Given the description of an element on the screen output the (x, y) to click on. 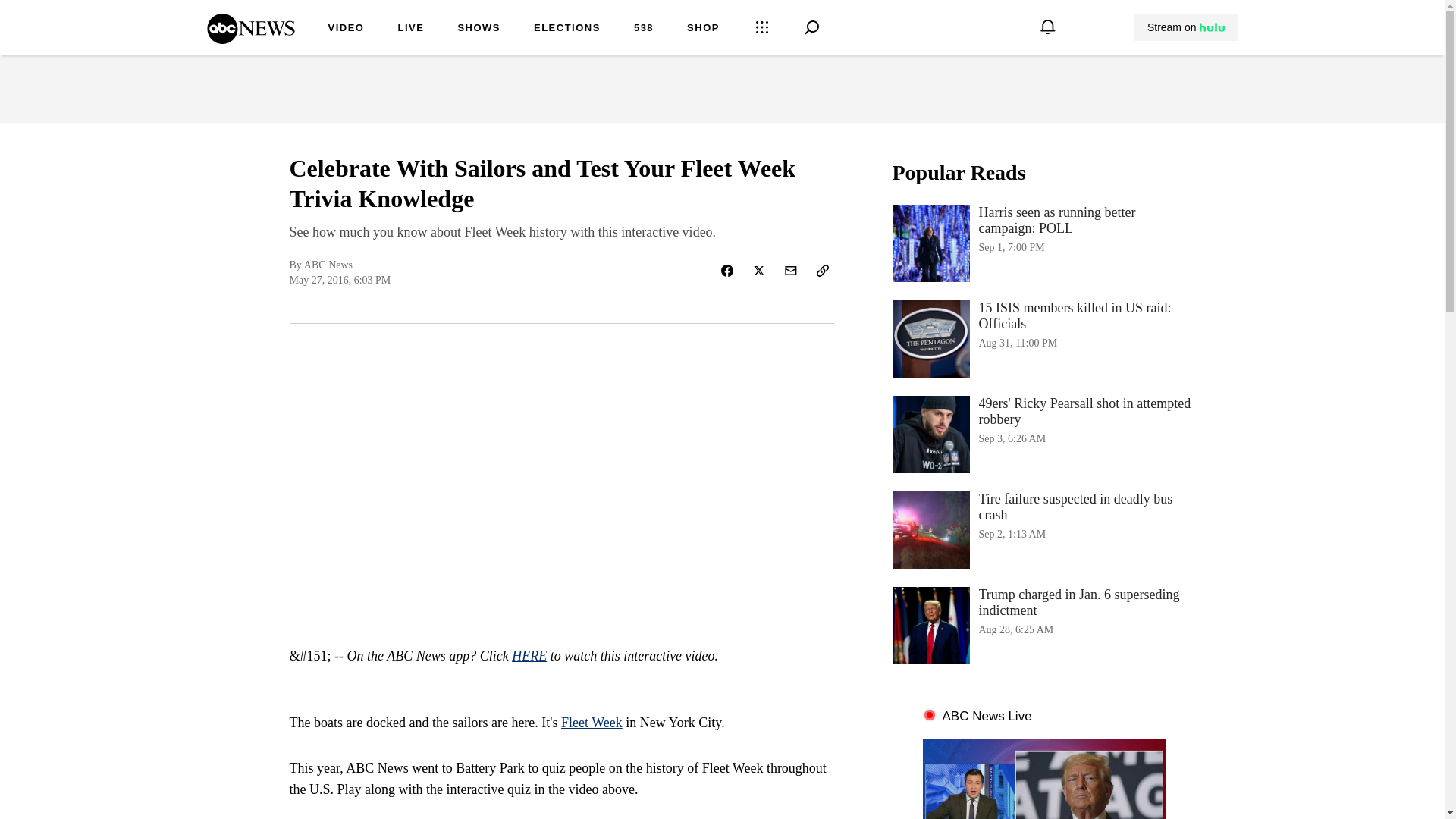
SHOP (703, 28)
LIVE (410, 28)
SHOWS (478, 28)
HERE (529, 655)
ELECTIONS (566, 28)
VIDEO (345, 28)
ABC News (250, 38)
538 (643, 28)
